Given the description of an element on the screen output the (x, y) to click on. 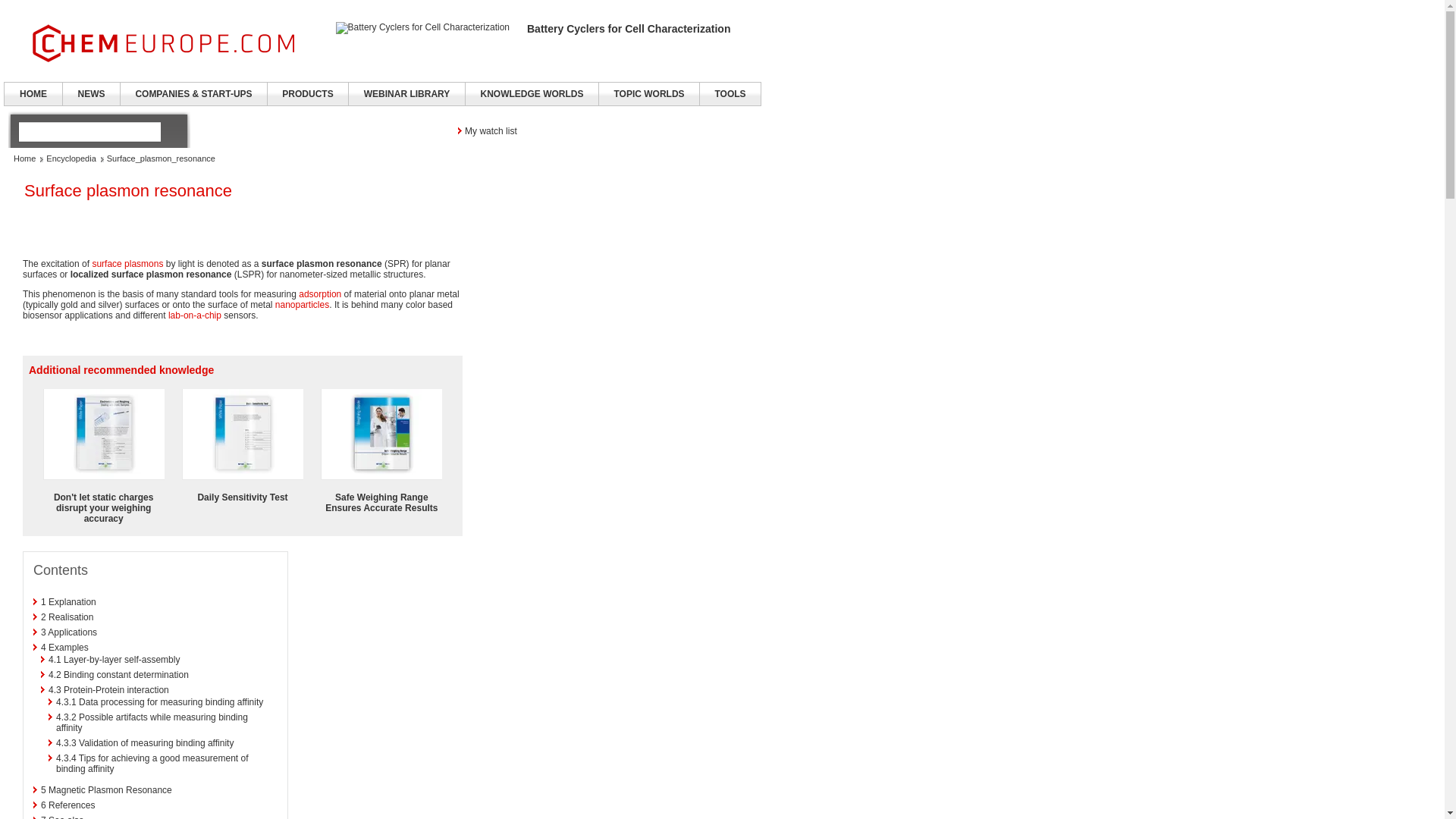
lab-on-a-chip (194, 315)
My watch list (487, 131)
4.1 Layer-by-layer self-assembly (113, 659)
Login   (673, 131)
Don't let static charges disrupt your weighing accuracy (103, 508)
4 Examples (64, 647)
search (88, 131)
adsorption (319, 294)
my.chemeurope.com   (582, 131)
3 Applications (68, 632)
Adsorption (319, 294)
go (171, 131)
Encyclopedia (71, 157)
4.3 Protein-Protein interaction (108, 689)
